Given the description of an element on the screen output the (x, y) to click on. 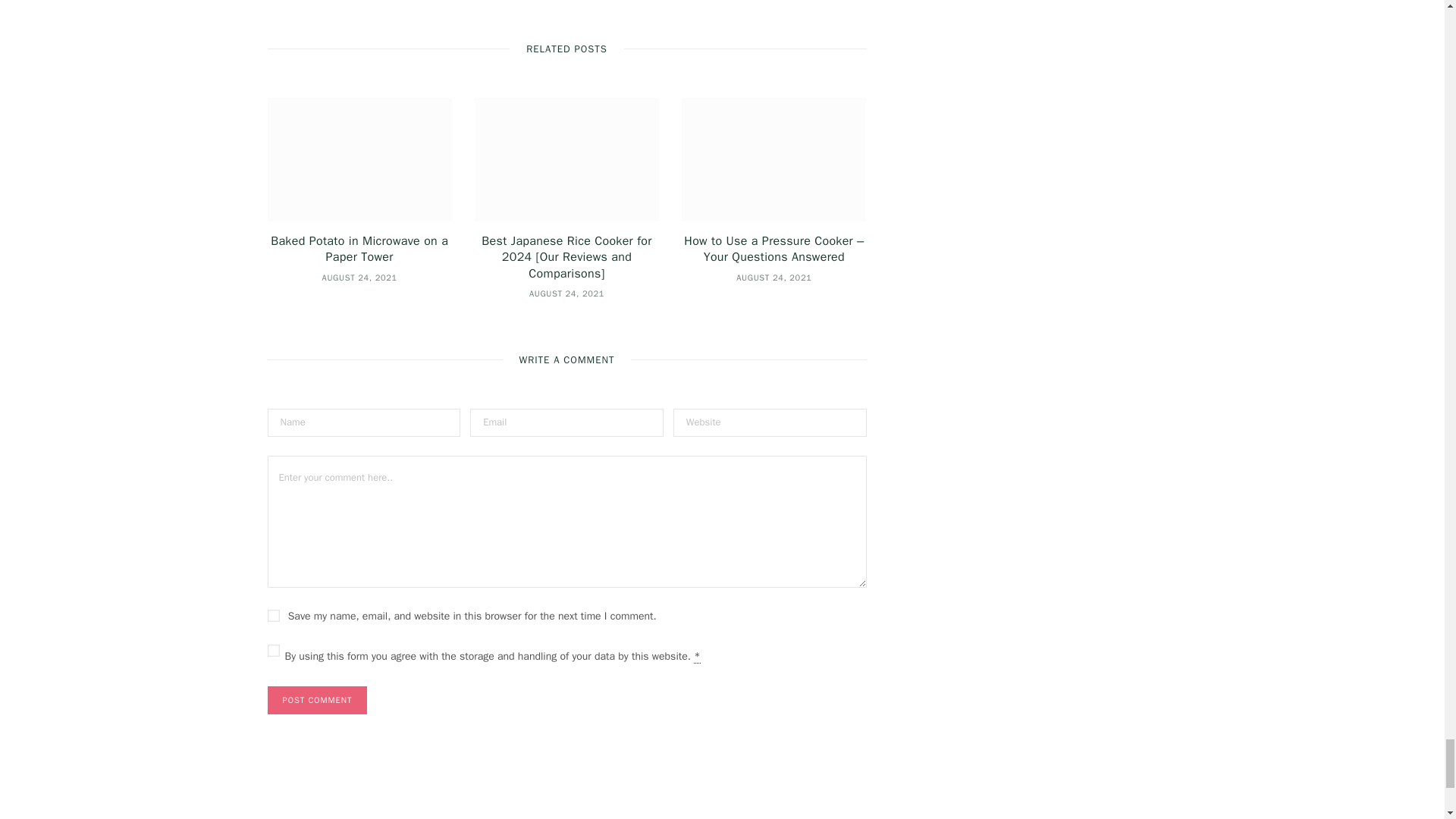
1 (272, 650)
Post Comment (316, 700)
yes (272, 615)
